Given the description of an element on the screen output the (x, y) to click on. 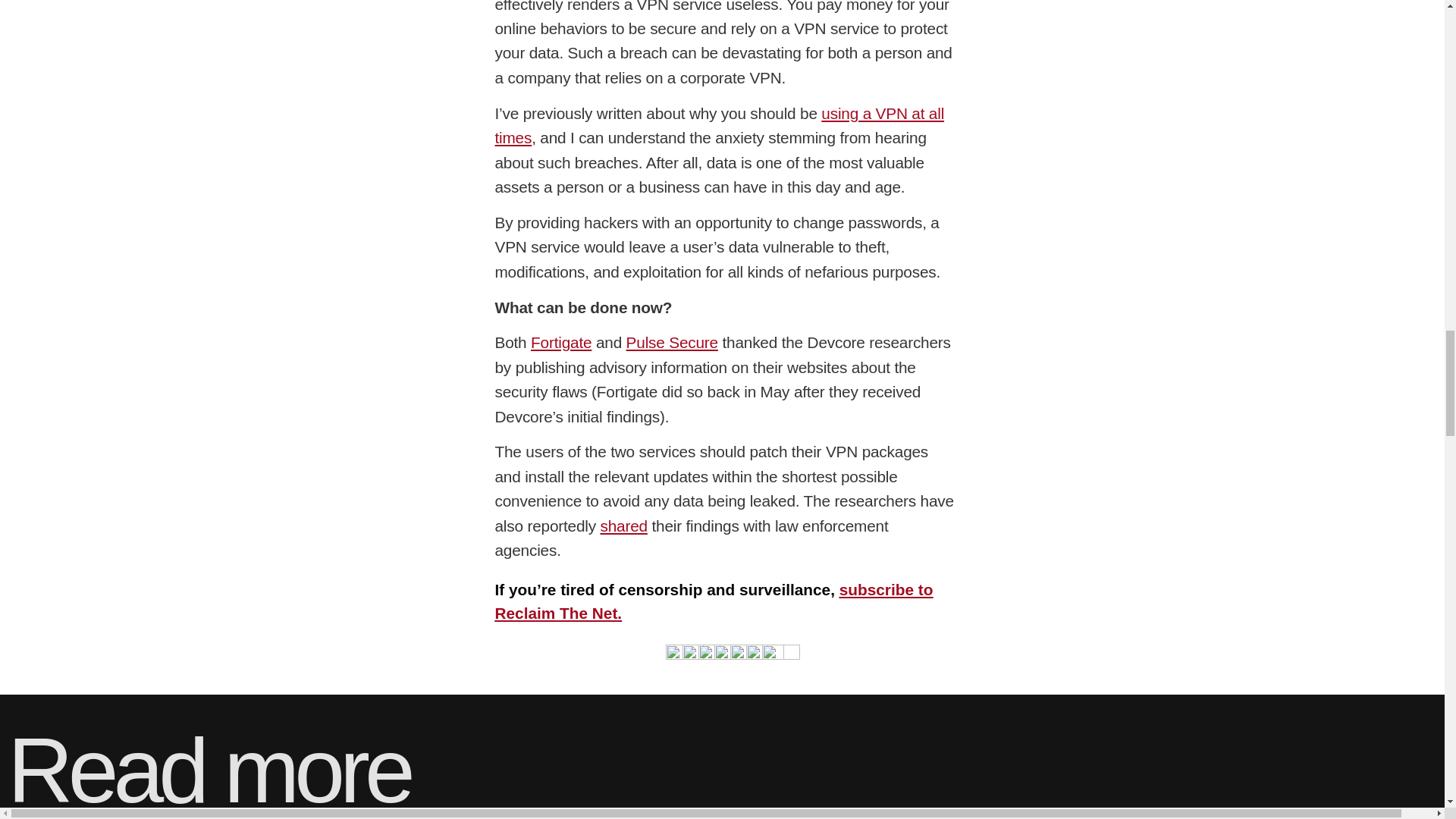
shared (623, 525)
using a VPN at all times (719, 125)
Pulse Secure (671, 342)
Fortigate (561, 342)
subscribe to Reclaim The Net. (714, 600)
